Given the description of an element on the screen output the (x, y) to click on. 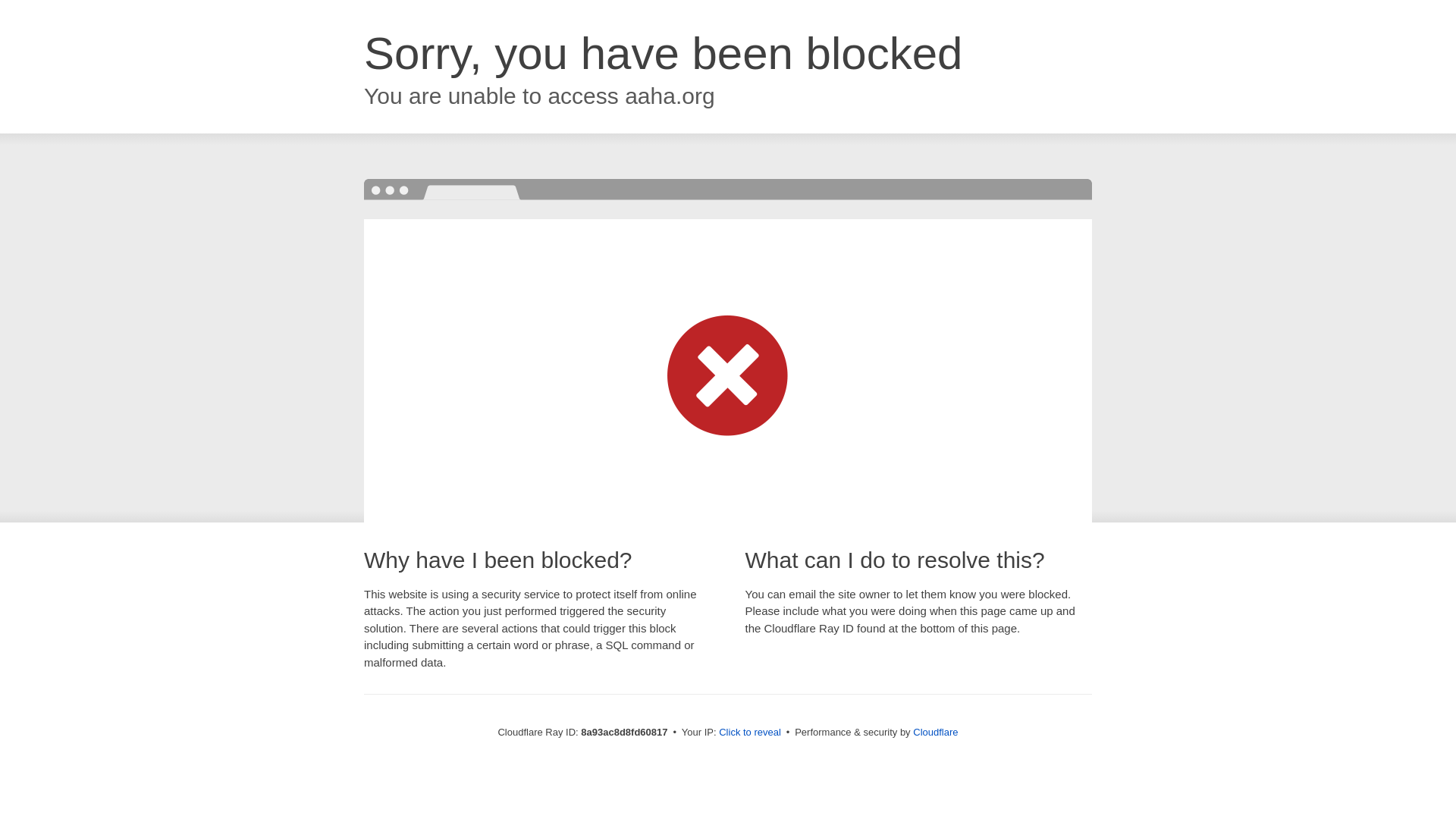
Click to reveal (749, 732)
Cloudflare (935, 731)
